Given the description of an element on the screen output the (x, y) to click on. 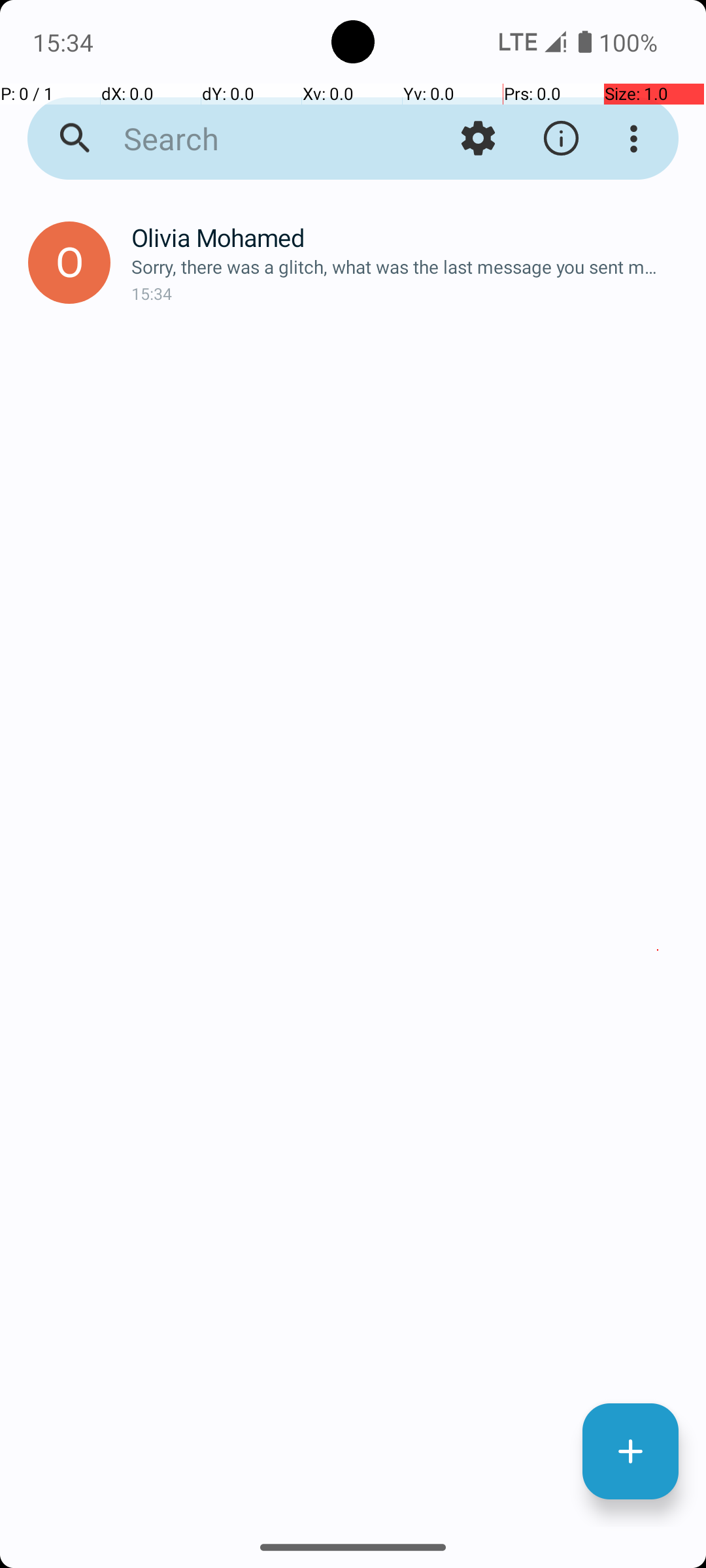
Olivia Mohamed Element type: android.widget.TextView (408, 237)
